Given the description of an element on the screen output the (x, y) to click on. 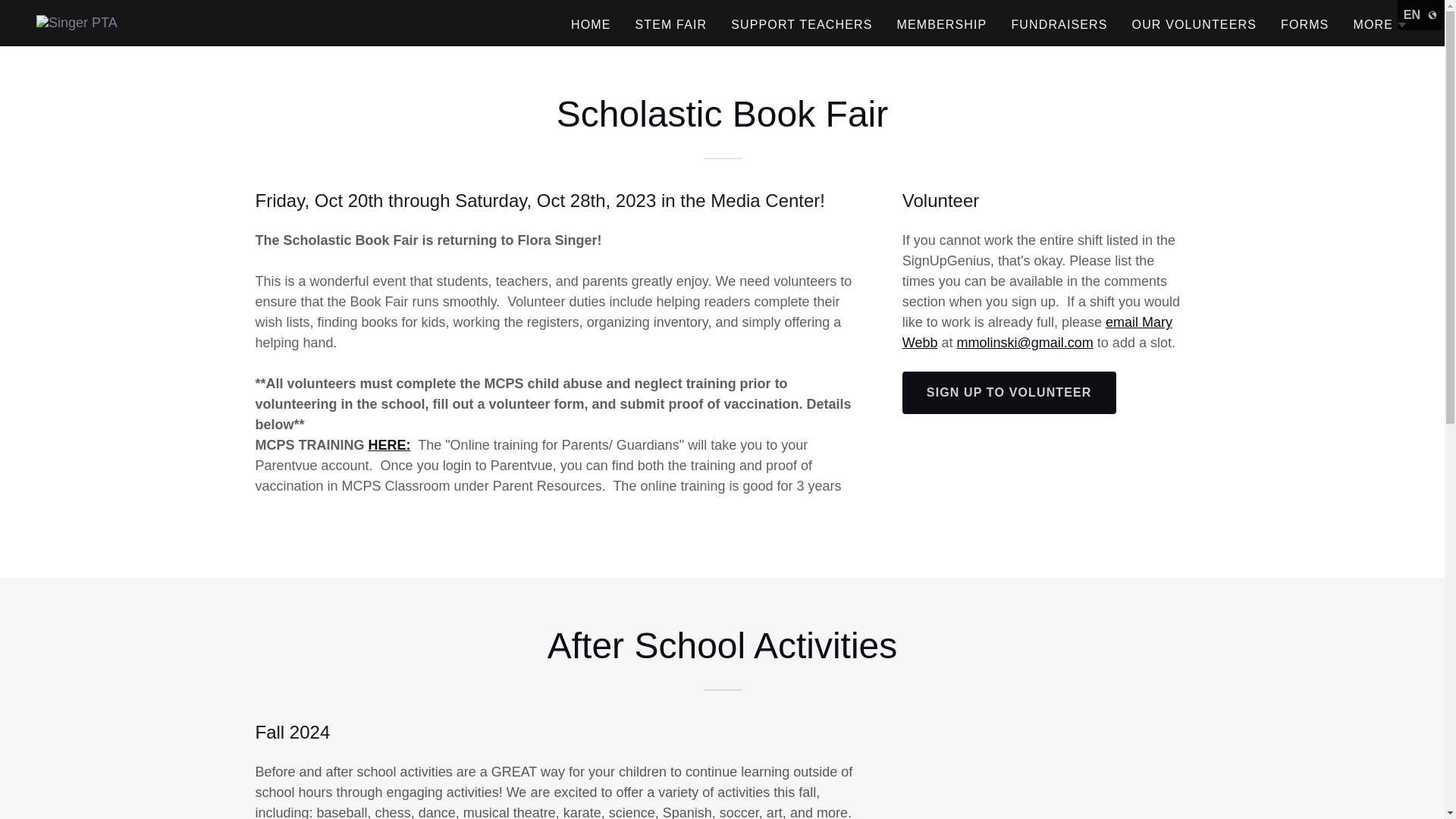
SUPPORT TEACHERS (801, 24)
OUR VOLUNTEERS (1193, 24)
FUNDRAISERS (1059, 24)
Singer PTA (76, 22)
MEMBERSHIP (941, 24)
MORE (1379, 24)
STEM FAIR (670, 24)
HOME (590, 24)
FORMS (1304, 24)
